Given the description of an element on the screen output the (x, y) to click on. 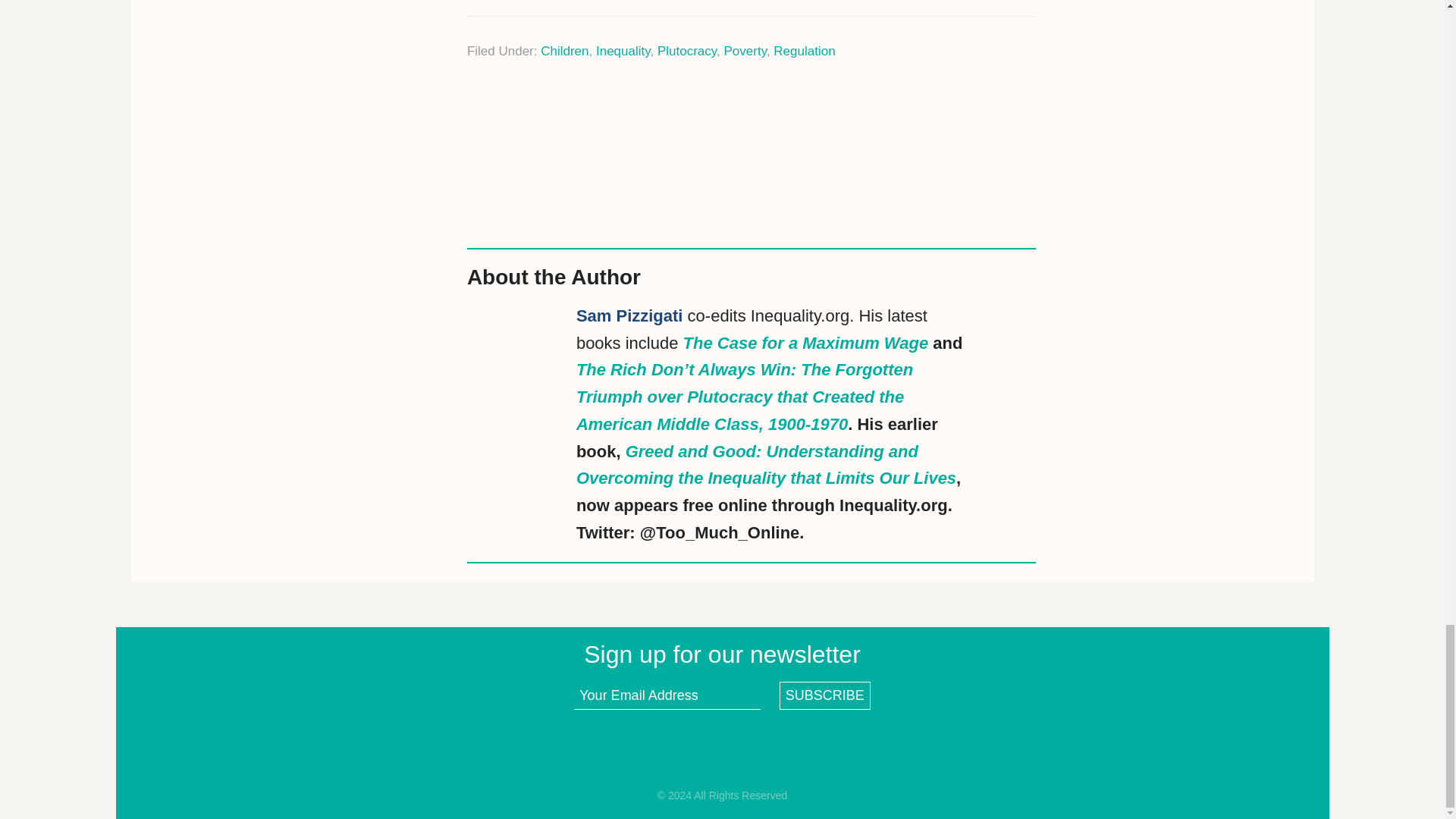
Inequality (622, 51)
subscribe (824, 695)
Children (564, 51)
Plutocracy (687, 51)
